Given the description of an element on the screen output the (x, y) to click on. 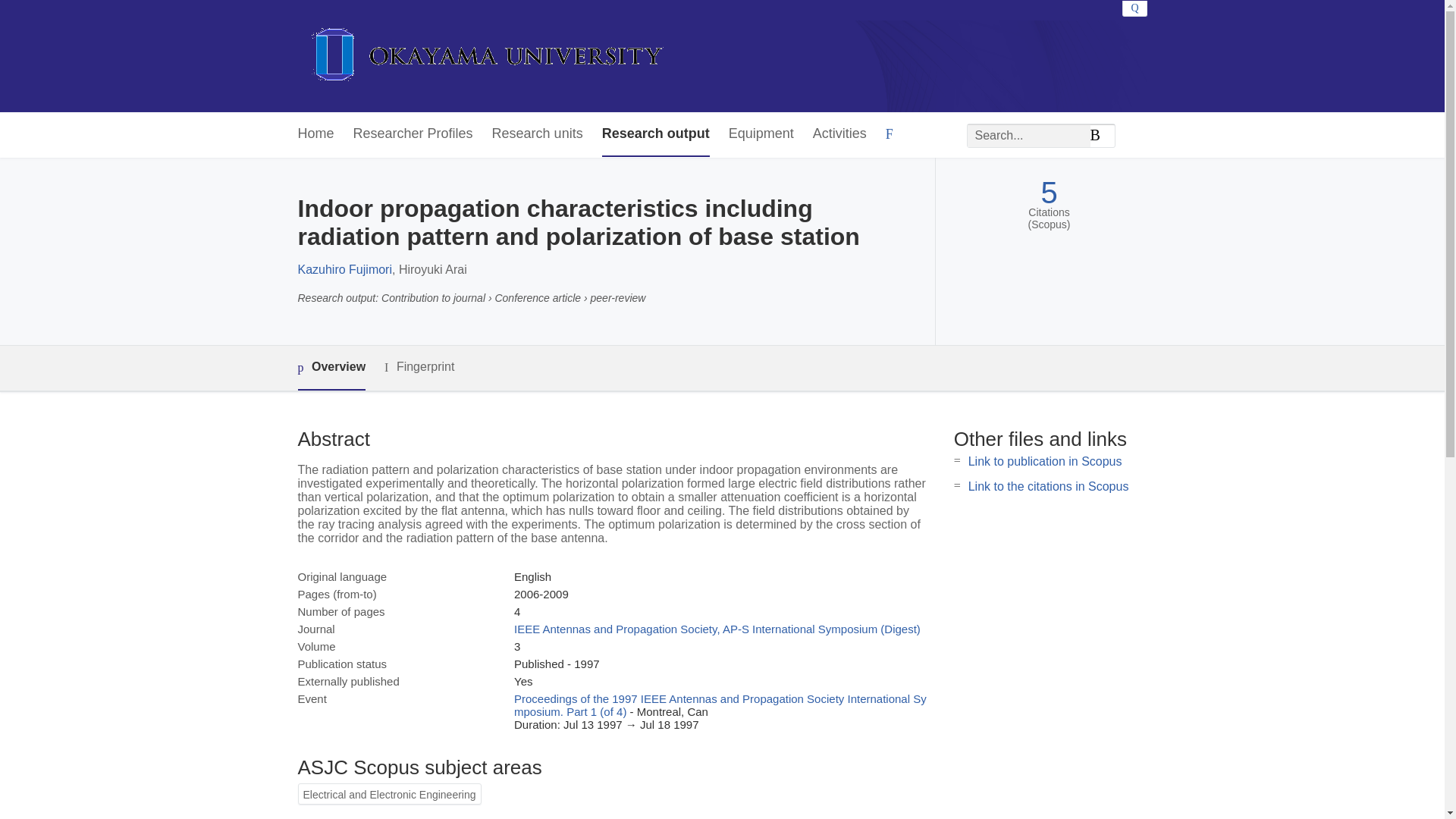
Research units (537, 134)
Kazuhiro Fujimori (344, 269)
Overview (331, 367)
Activities (839, 134)
Okayama University Home (487, 55)
Research output (656, 134)
Equipment (761, 134)
Researcher Profiles (413, 134)
Fingerprint (419, 367)
Link to the citations in Scopus (1048, 486)
Link to publication in Scopus (1045, 461)
